Given the description of an element on the screen output the (x, y) to click on. 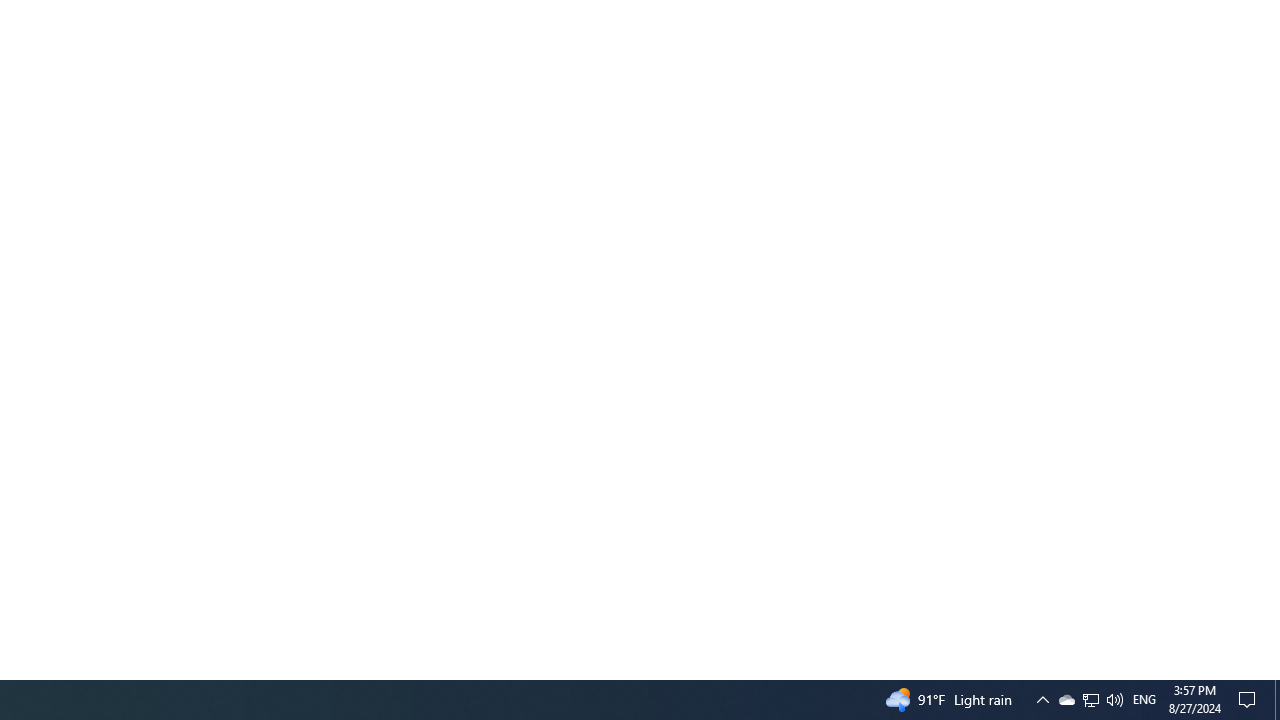
Tray Input Indicator - English (United States) (1144, 699)
